Given the description of an element on the screen output the (x, y) to click on. 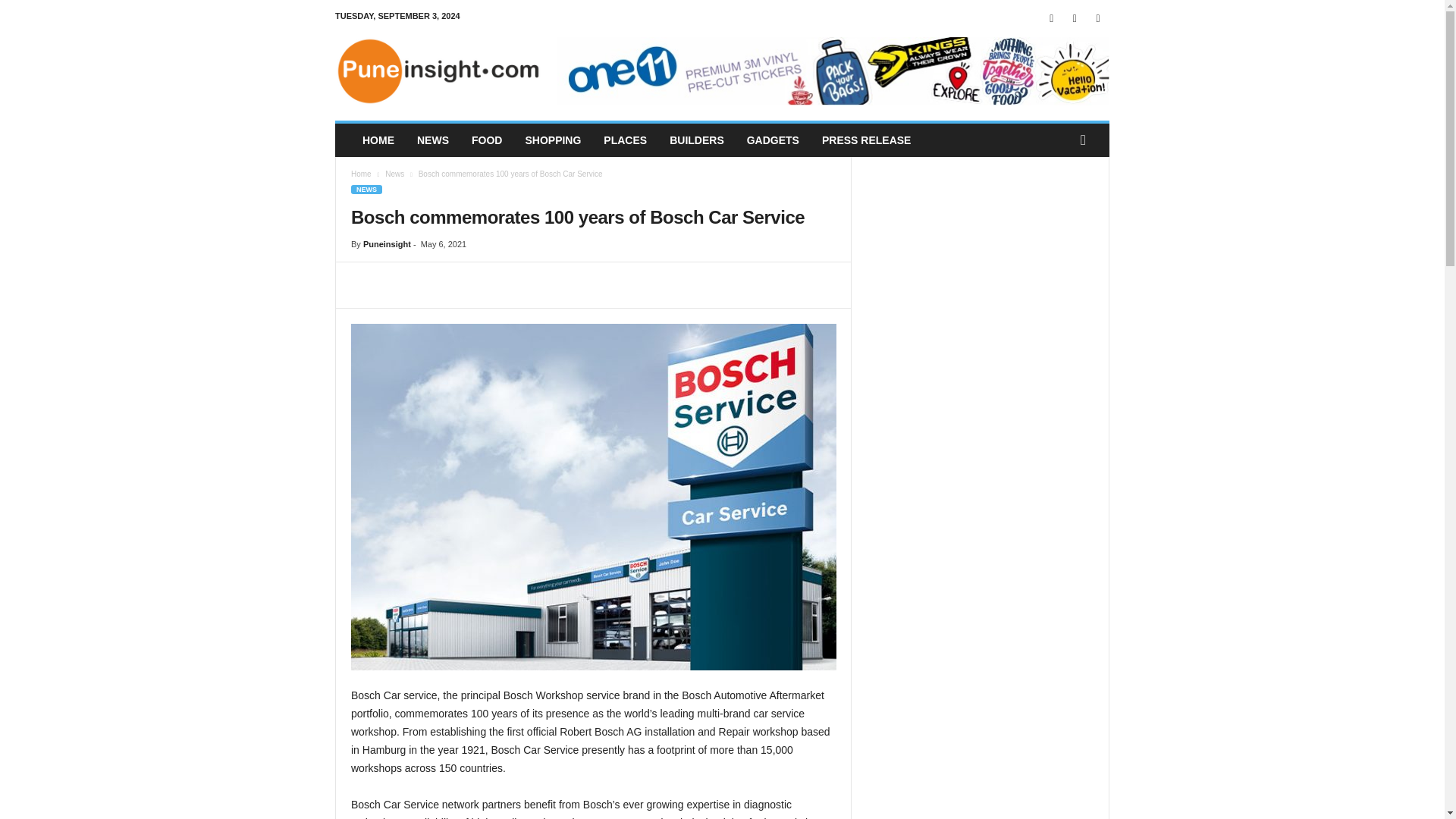
PLACES (625, 140)
HOME (378, 140)
BUILDERS (696, 140)
PRESS RELEASE (865, 140)
View all posts in News (394, 173)
Pune-Pune News, Updates, Shopping, Builders, Puneinsight.com (437, 70)
NEWS (433, 140)
GADGETS (772, 140)
SHOPPING (552, 140)
